Given the description of an element on the screen output the (x, y) to click on. 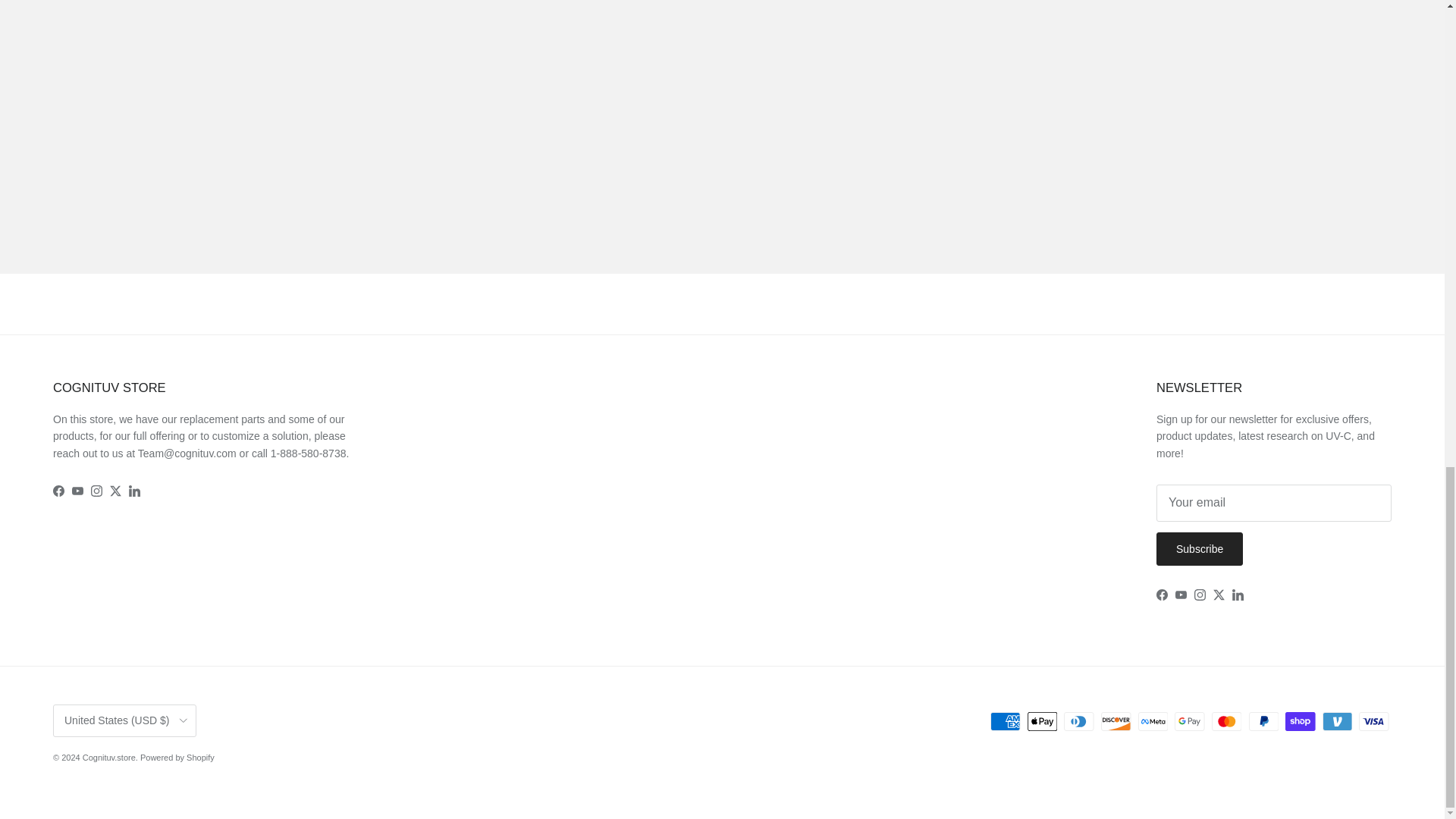
Cognituv.store on Instagram (1199, 594)
Shop Pay (1299, 721)
Discover (1115, 721)
Google Pay (1189, 721)
Meta Pay (1152, 721)
PayPal (1262, 721)
Apple Pay (1042, 721)
Cognituv.store on YouTube (1180, 594)
Cognituv.store on LinkedIn (1237, 594)
Mastercard (1226, 721)
Cognituv.store on YouTube (76, 490)
American Express (1005, 721)
Cognituv.store on Instagram (95, 490)
Cognituv.store on Facebook (58, 490)
Cognituv.store on Twitter (1218, 594)
